Given the description of an element on the screen output the (x, y) to click on. 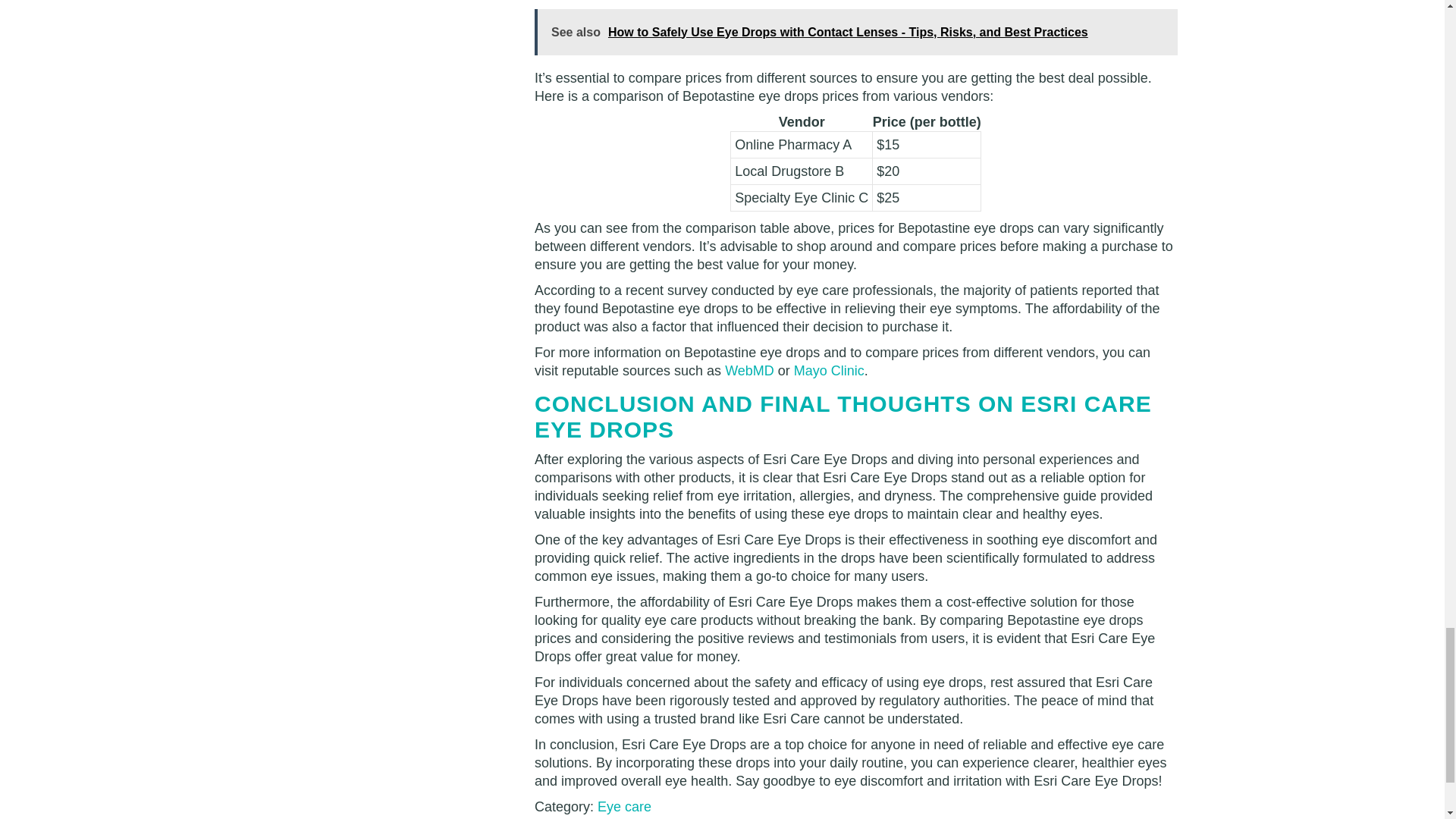
WebMD (749, 370)
Eye care (623, 806)
Mayo Clinic (828, 370)
